Given the description of an element on the screen output the (x, y) to click on. 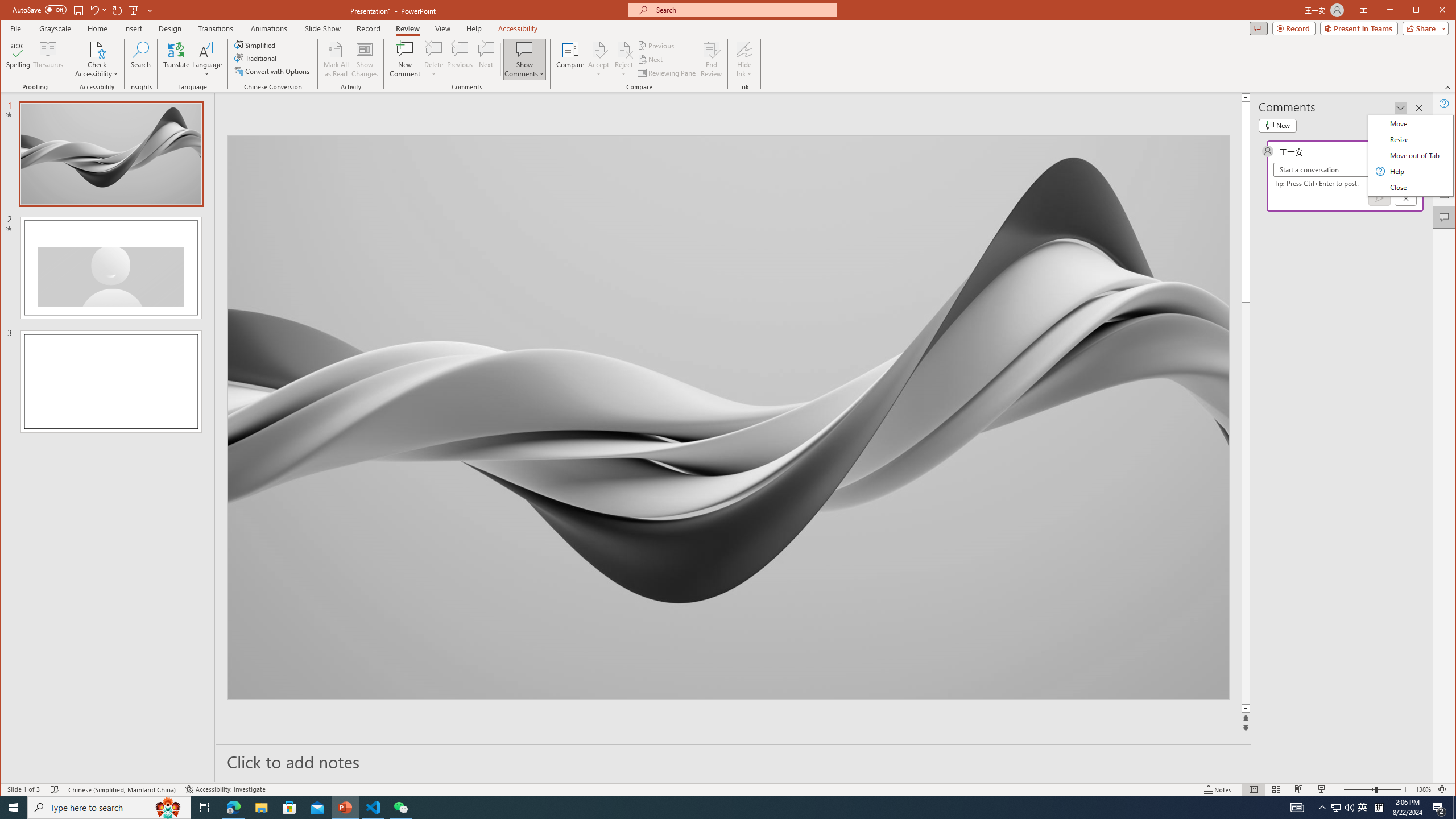
Traditional (256, 57)
Share (1422, 27)
Zoom 138% (1422, 789)
Present in Teams (1358, 28)
PowerPoint - 1 running window (345, 807)
Microsoft Edge - 1 running window (233, 807)
Save (77, 9)
Record (1294, 28)
Slide Show (322, 28)
Accept (598, 59)
Translate (175, 59)
Customize Quick Access Toolbar (150, 9)
Reviewing Pane (667, 72)
Type here to search (108, 807)
